Given the description of an element on the screen output the (x, y) to click on. 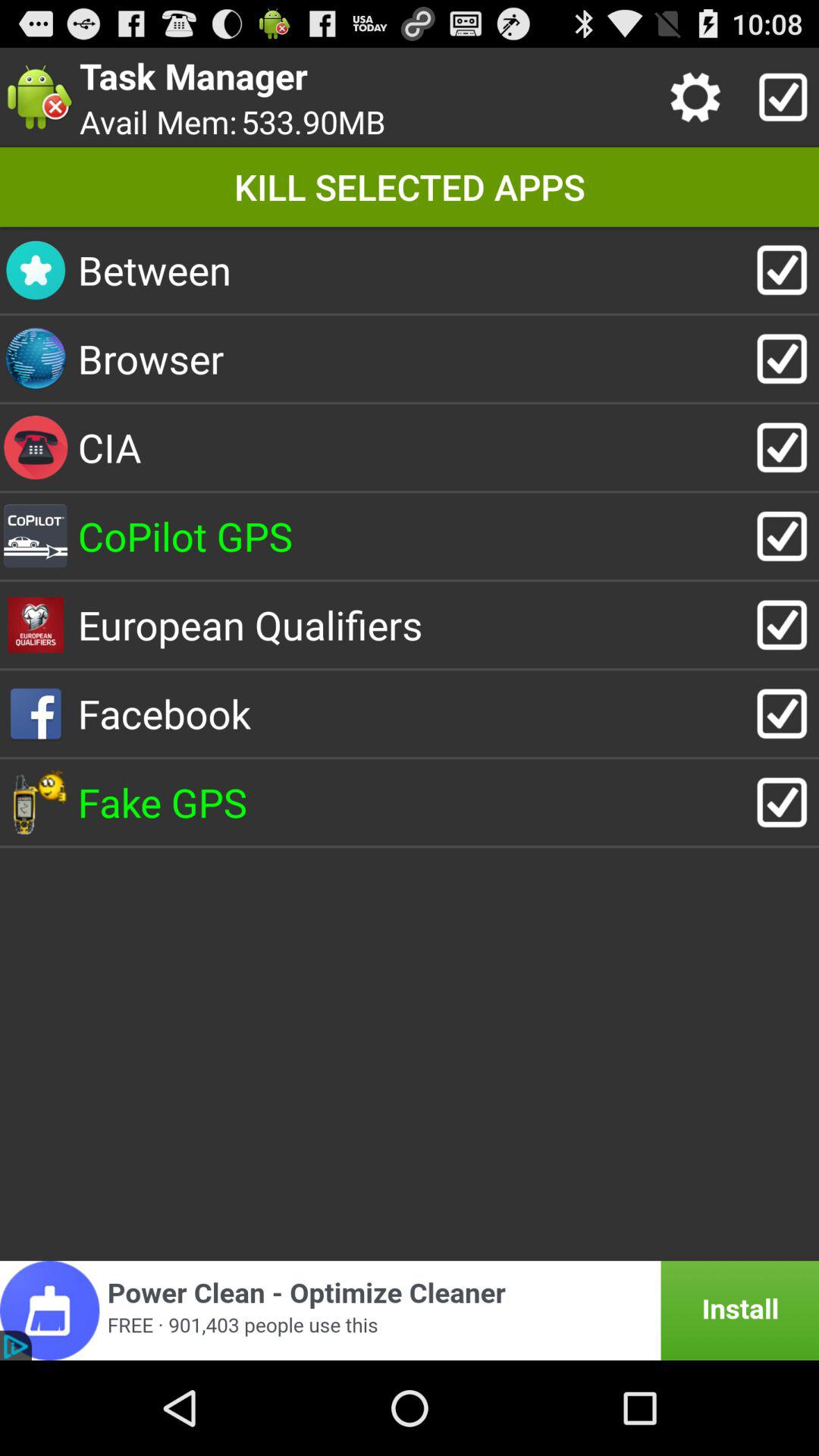
select apps (779, 97)
